Given the description of an element on the screen output the (x, y) to click on. 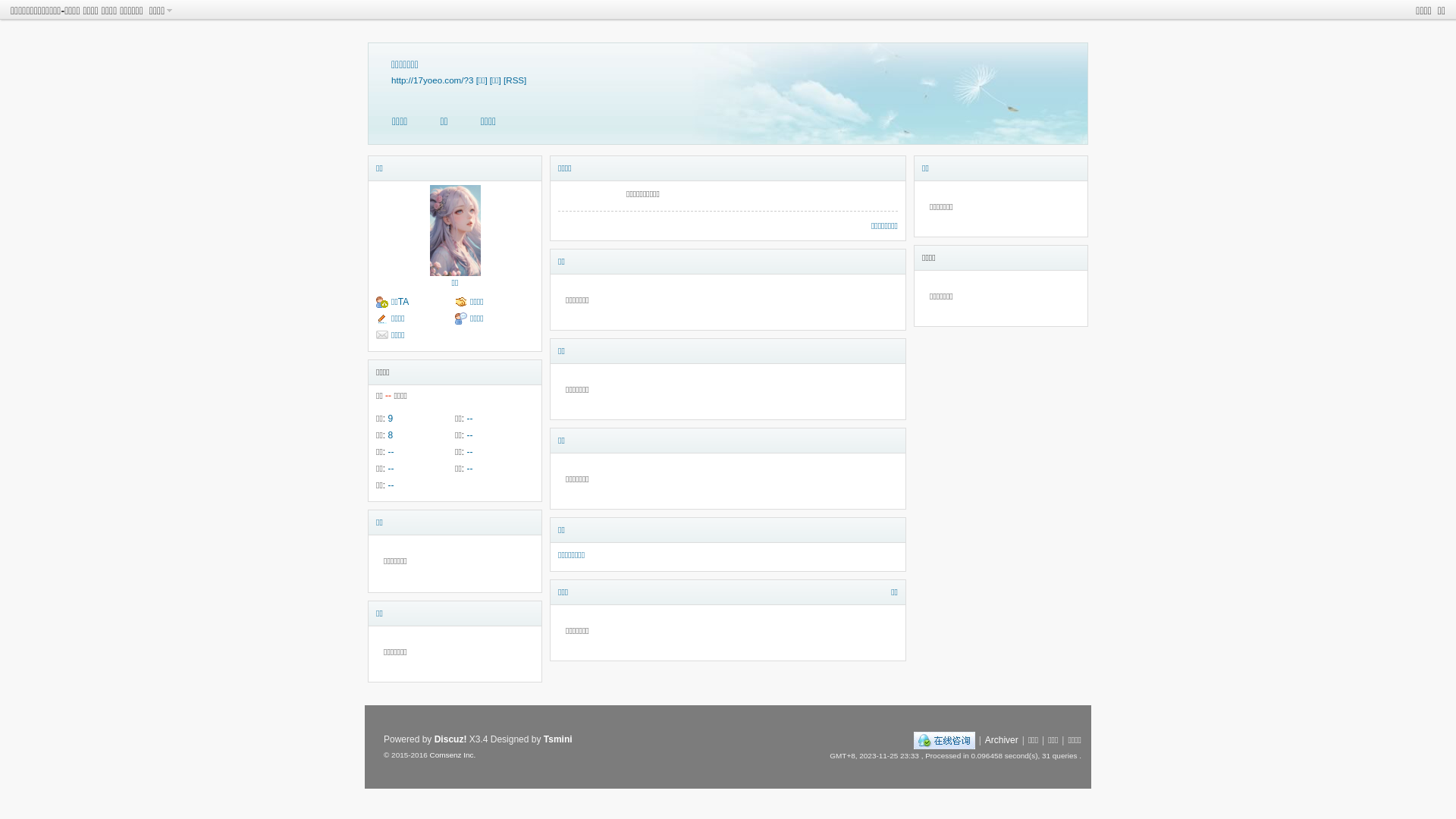
-- Element type: text (390, 468)
-- Element type: text (469, 468)
-- Element type: text (390, 485)
-- Element type: text (390, 451)
-- Element type: text (469, 451)
QQ Element type: hover (944, 739)
Comsenz Inc. Element type: text (452, 754)
-- Element type: text (469, 434)
[RSS] Element type: text (514, 79)
-- Element type: text (469, 418)
Discuz! Element type: text (450, 739)
Archiver Element type: text (1001, 739)
Tsmini Element type: text (557, 739)
9 Element type: text (389, 418)
http://17yoeo.com/?3 Element type: text (432, 79)
8 Element type: text (389, 434)
